Given the description of an element on the screen output the (x, y) to click on. 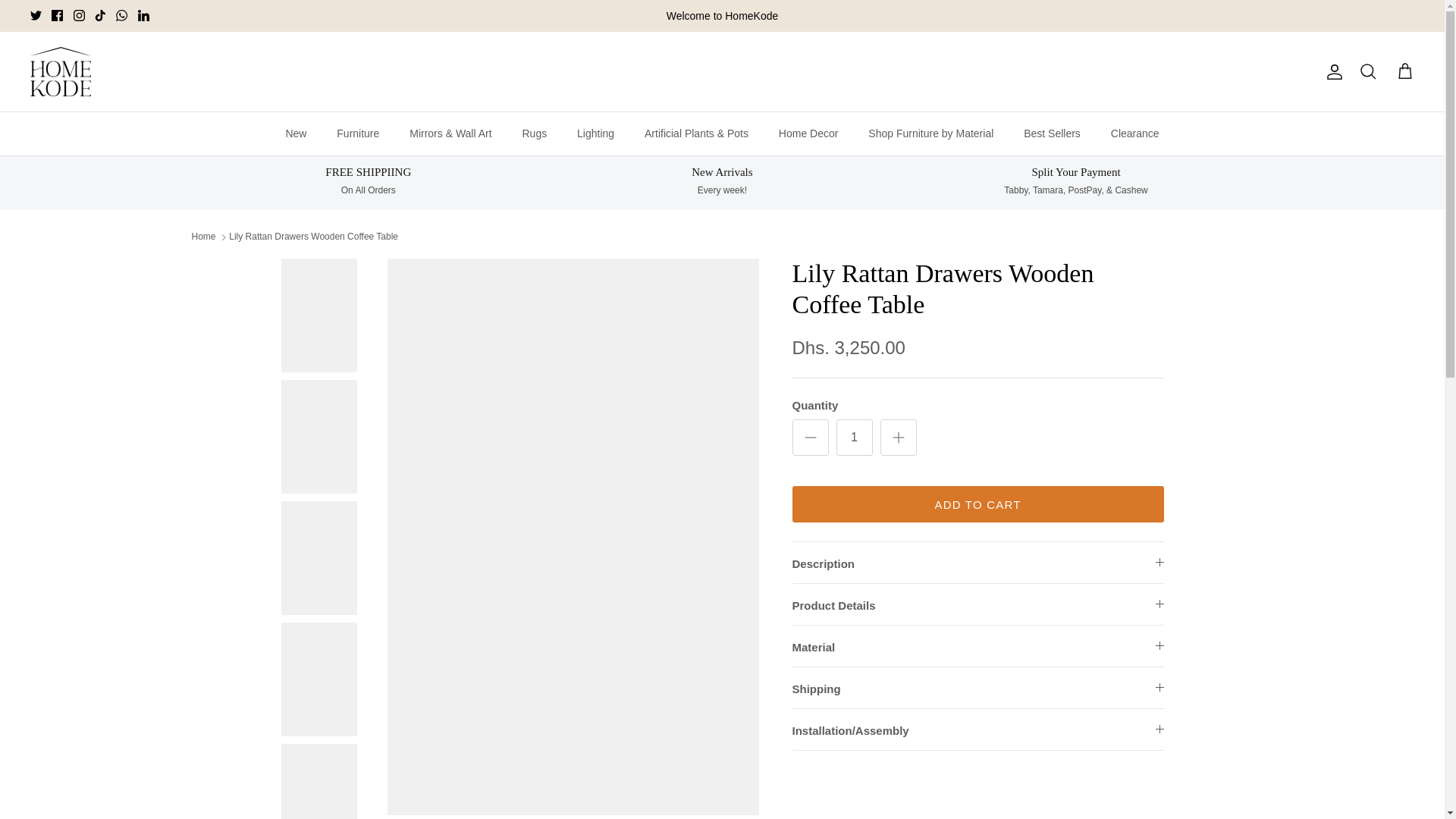
Twitter (36, 15)
Cart (1404, 71)
New (295, 133)
Account (1331, 72)
Plus (897, 437)
Furniture (358, 133)
1 (853, 437)
Instagram (79, 15)
Minus (809, 437)
Facebook (56, 15)
